Given the description of an element on the screen output the (x, y) to click on. 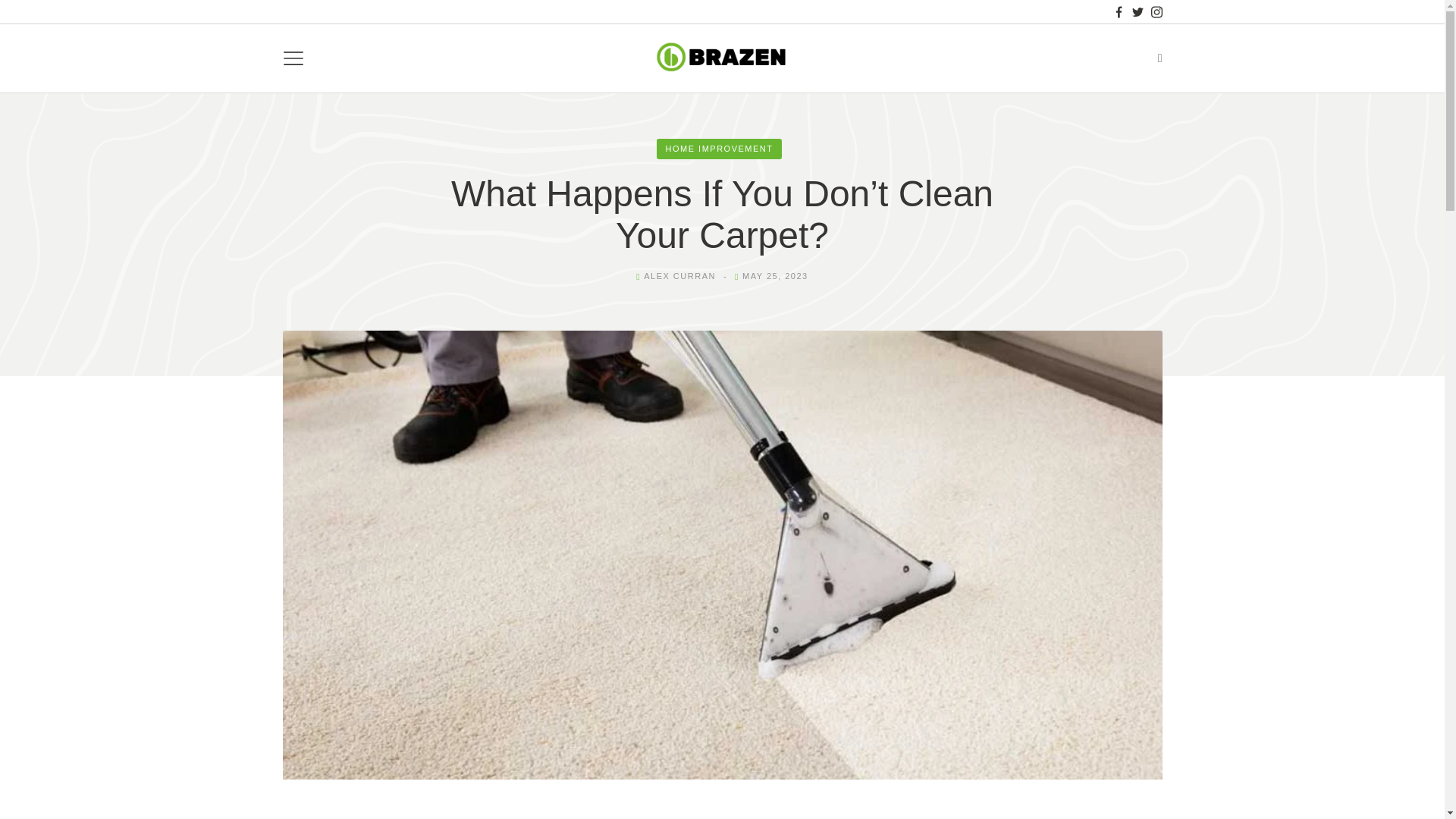
HOME IMPROVEMENT (719, 148)
ALEX CURRAN (679, 275)
MAY 25, 2023 (775, 275)
